Given the description of an element on the screen output the (x, y) to click on. 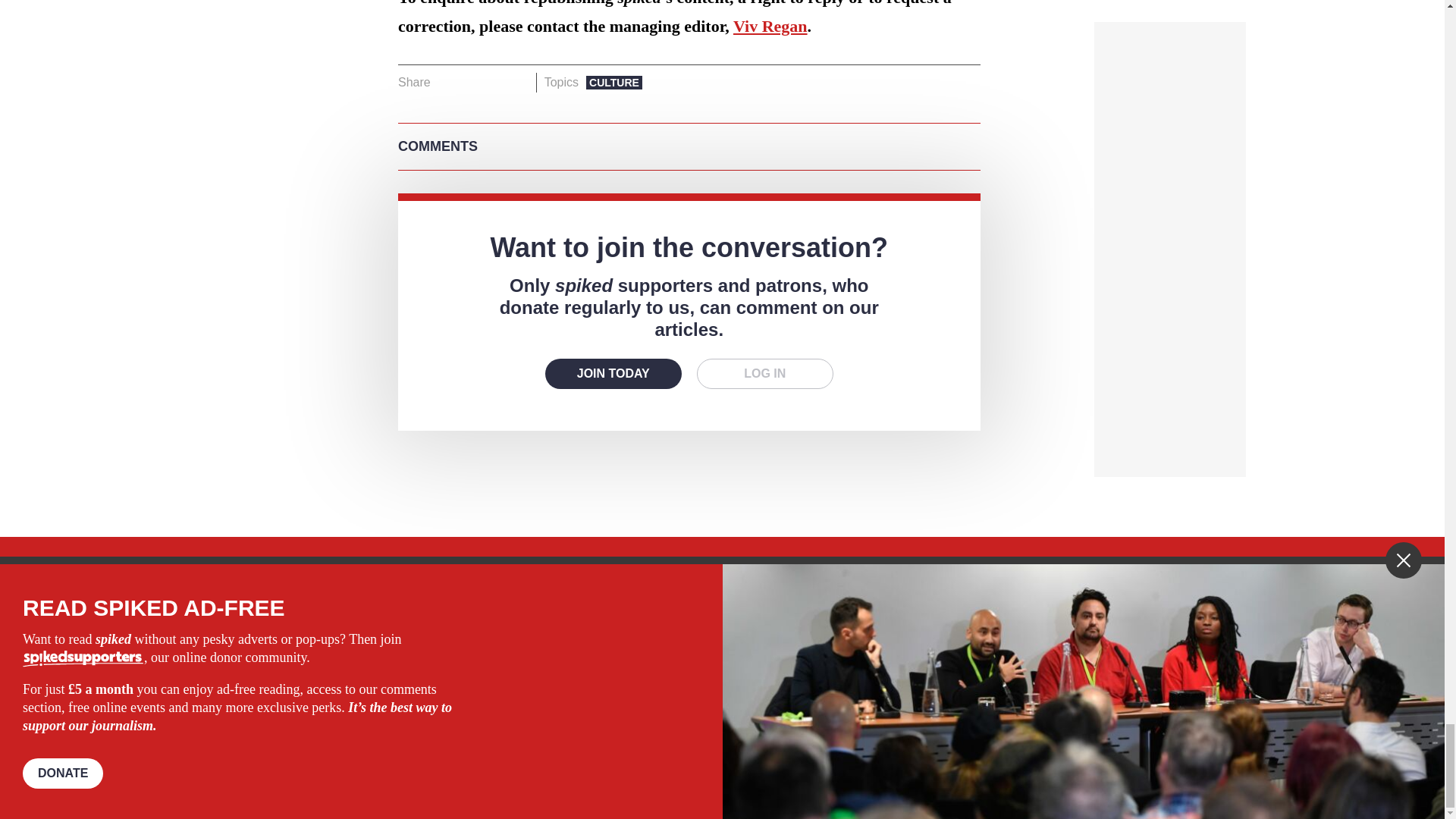
Share on Email (518, 82)
Share on Whatsapp (494, 82)
Share on Facebook (448, 82)
Share on Twitter (471, 82)
